Given the description of an element on the screen output the (x, y) to click on. 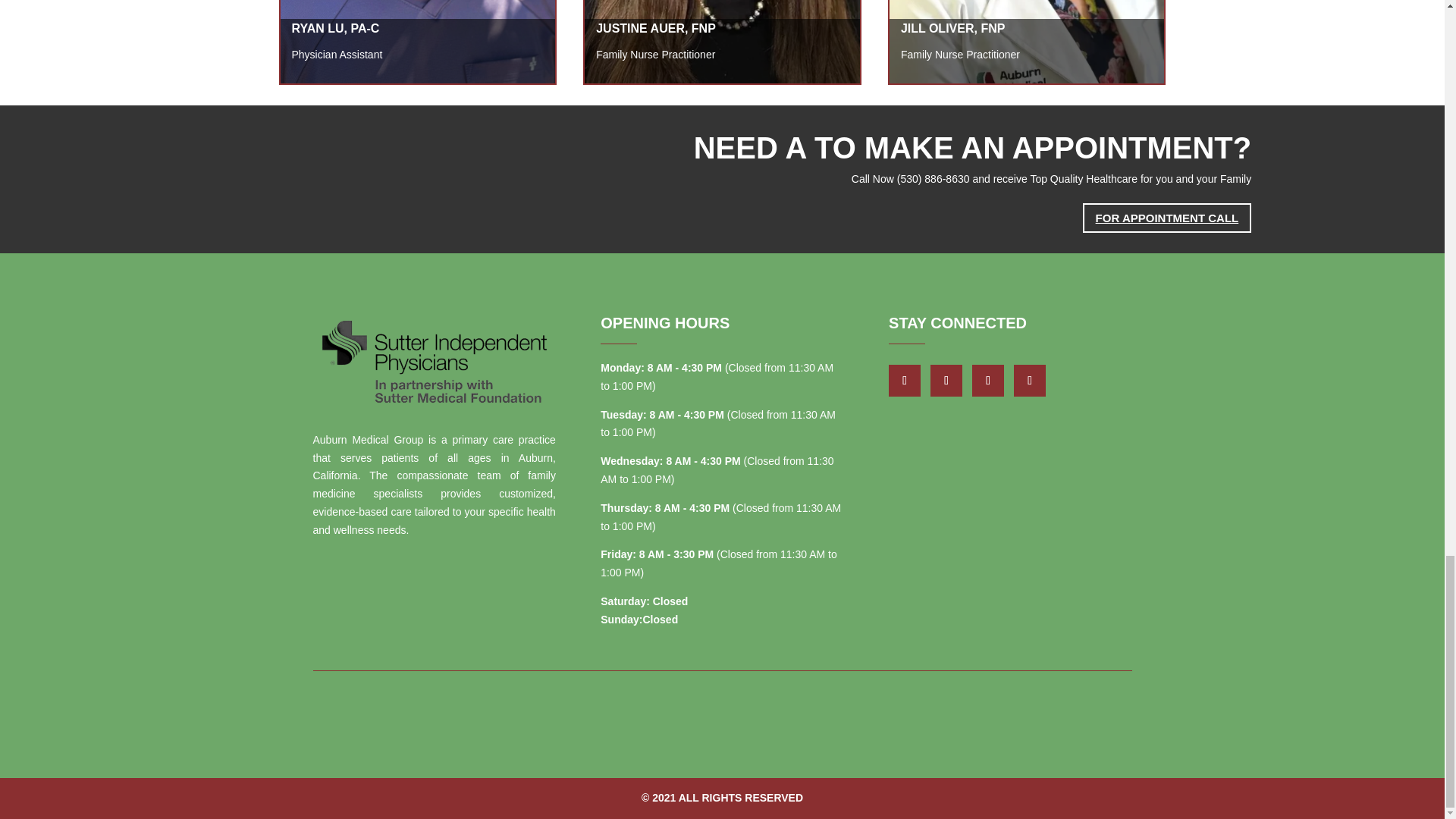
Follow on Facebook (904, 380)
Follow on RSS (1029, 380)
Follow on google-plus (946, 380)
Follow on Youtube (988, 380)
